Given the description of an element on the screen output the (x, y) to click on. 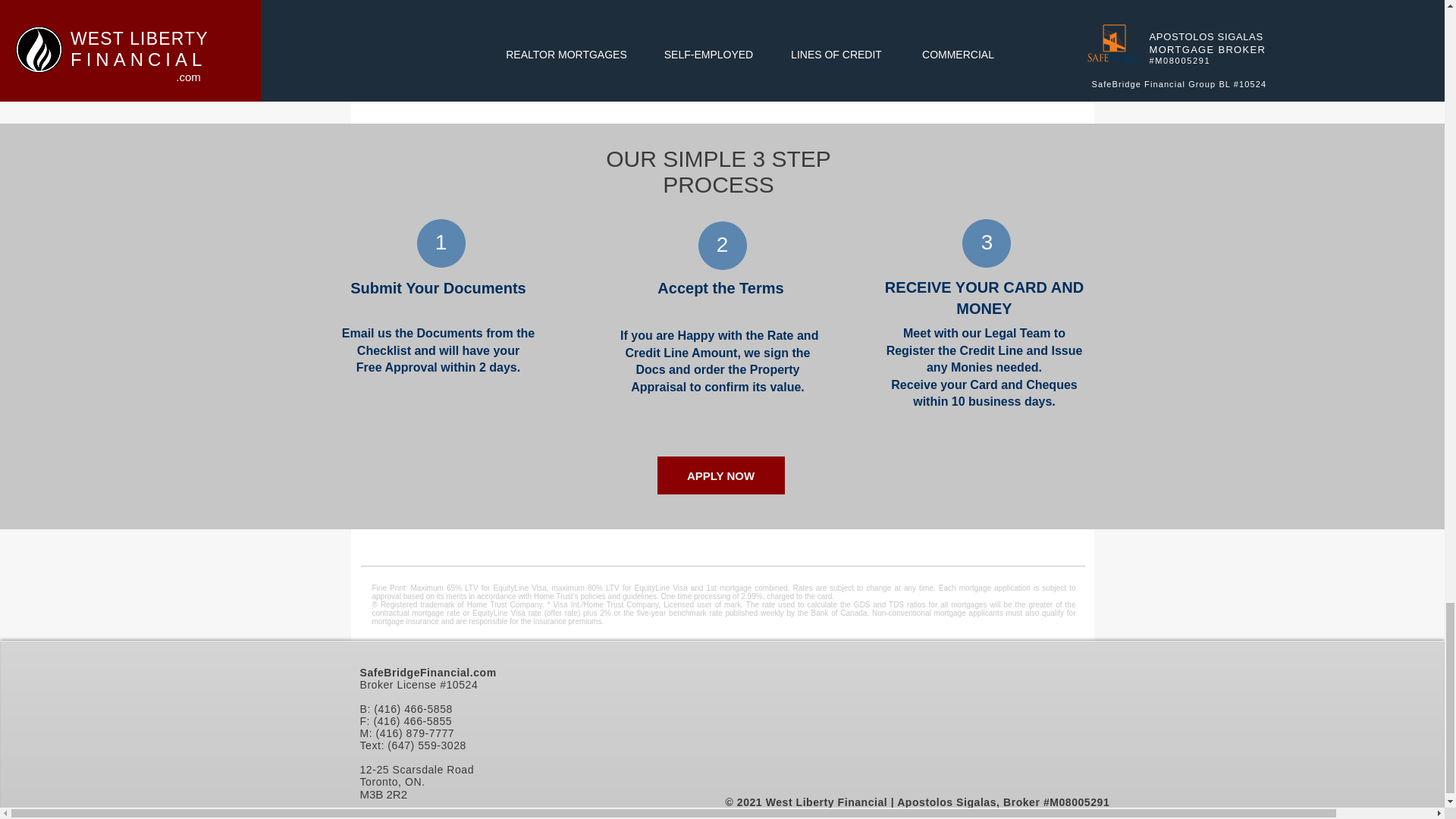
APPLY NOW (720, 475)
